Given the description of an element on the screen output the (x, y) to click on. 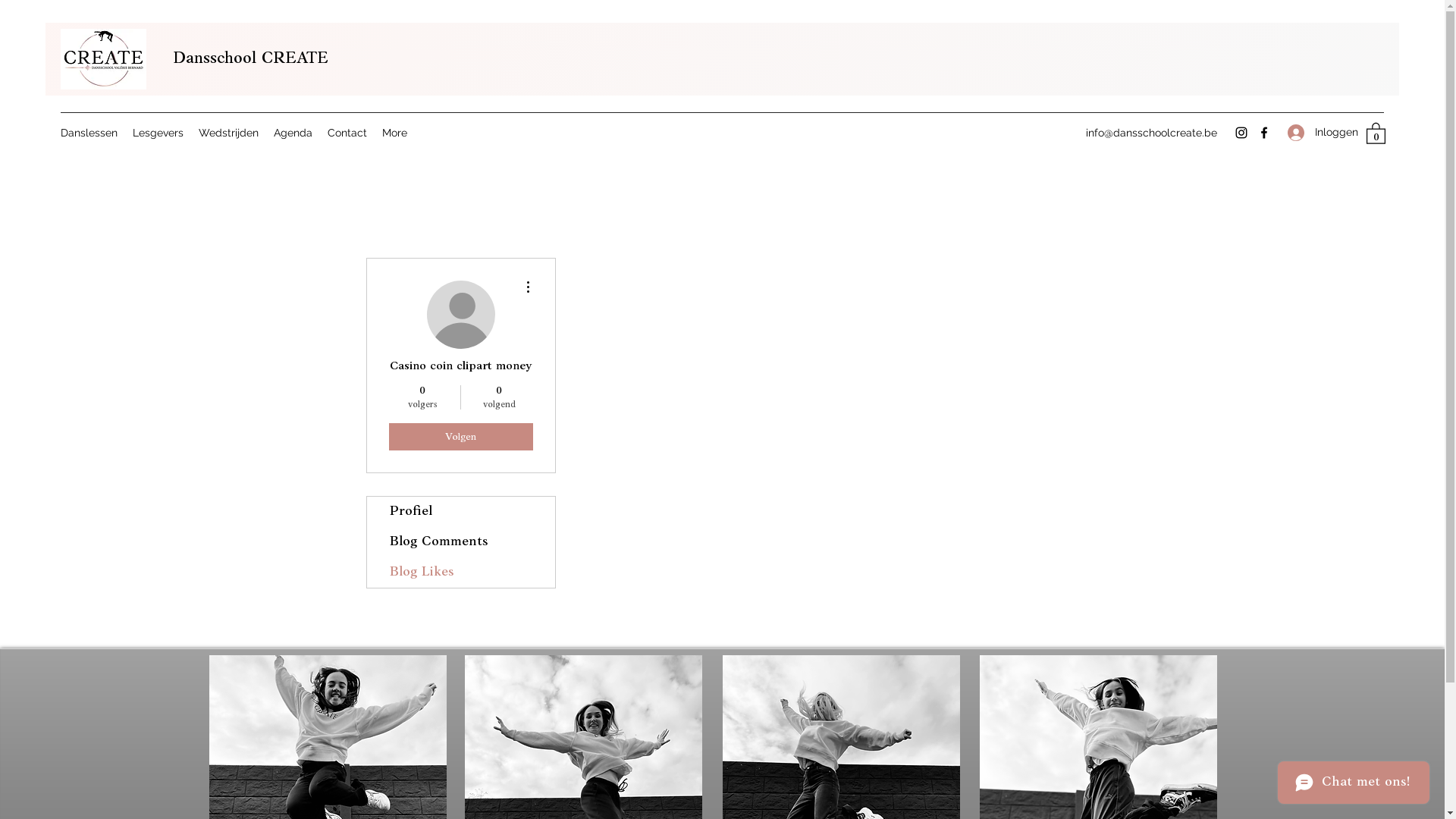
Lesgevers Element type: text (158, 132)
Volgen Element type: text (460, 436)
Blog Likes Element type: text (461, 572)
Agenda Element type: text (293, 132)
0
volgend Element type: text (499, 397)
0
volgers Element type: text (421, 397)
Inloggen Element type: text (1318, 132)
Profiel Element type: text (461, 511)
Wedstrijden Element type: text (228, 132)
0 Element type: text (1375, 132)
Contact Element type: text (347, 132)
info@dansschoolcreate.be Element type: text (1151, 132)
Danslessen Element type: text (89, 132)
Blog Comments Element type: text (461, 542)
